Given the description of an element on the screen output the (x, y) to click on. 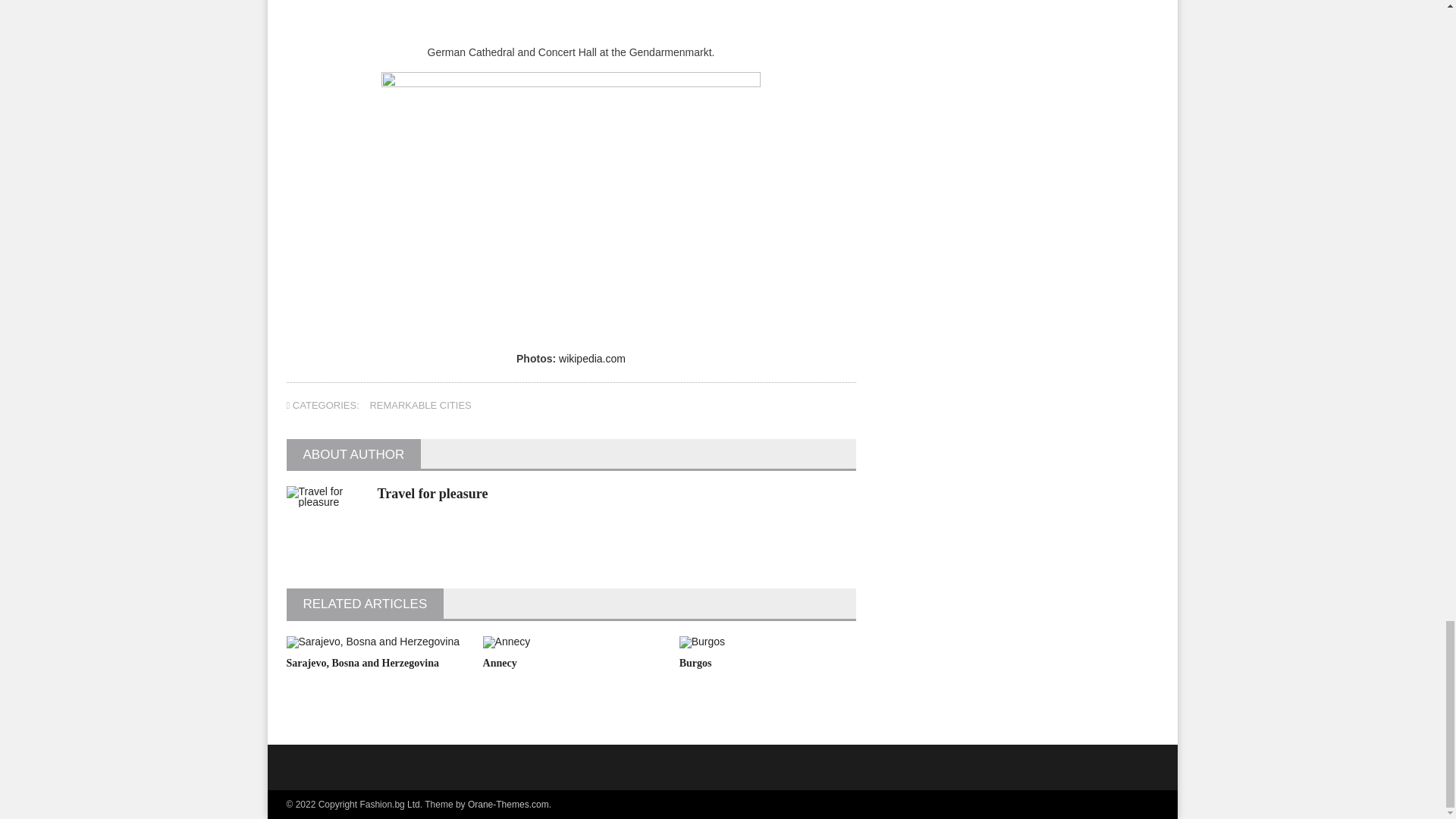
REMARKABLE CITIES (419, 405)
Travel for pleasure (432, 493)
Burgos (695, 663)
wikipedia.com (592, 358)
Sarajevo, Bosna and Herzegovina (362, 663)
Annecy (499, 663)
